Given the description of an element on the screen output the (x, y) to click on. 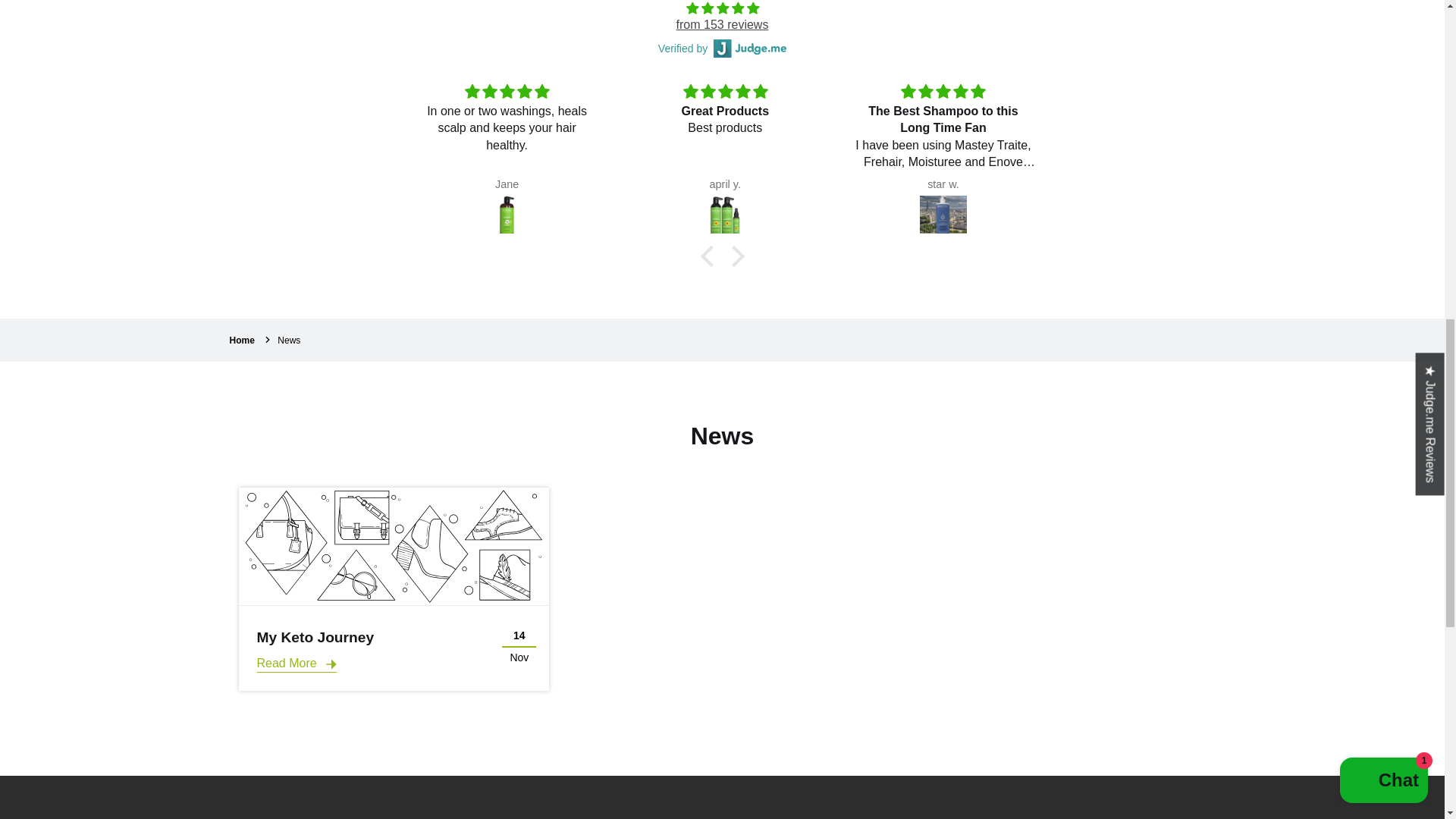
from 153 reviews (722, 24)
